Given the description of an element on the screen output the (x, y) to click on. 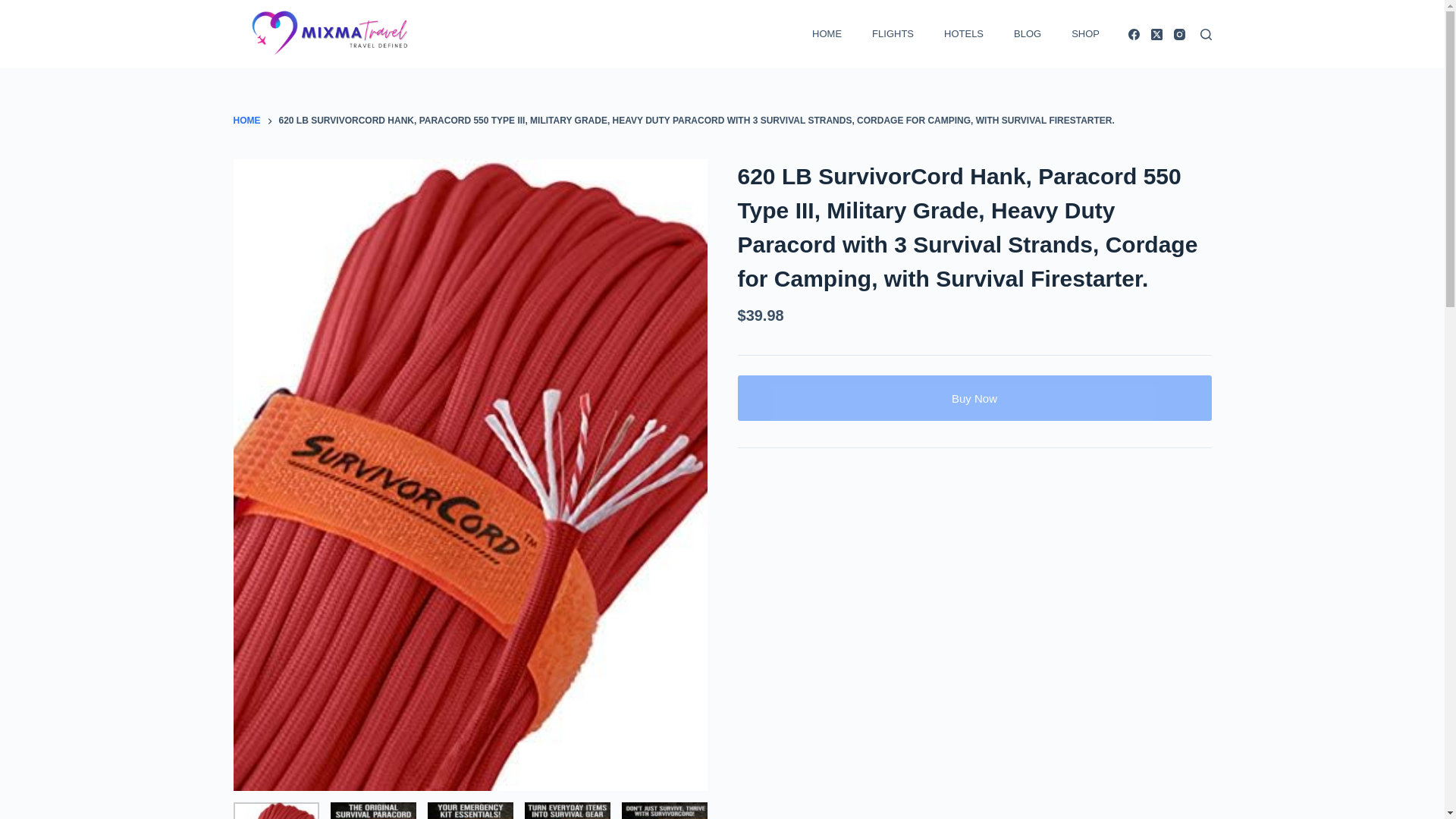
Skip to content (15, 7)
HOME (246, 120)
FLIGHTS (891, 33)
HOTELS (962, 33)
Buy Now (973, 397)
